Given the description of an element on the screen output the (x, y) to click on. 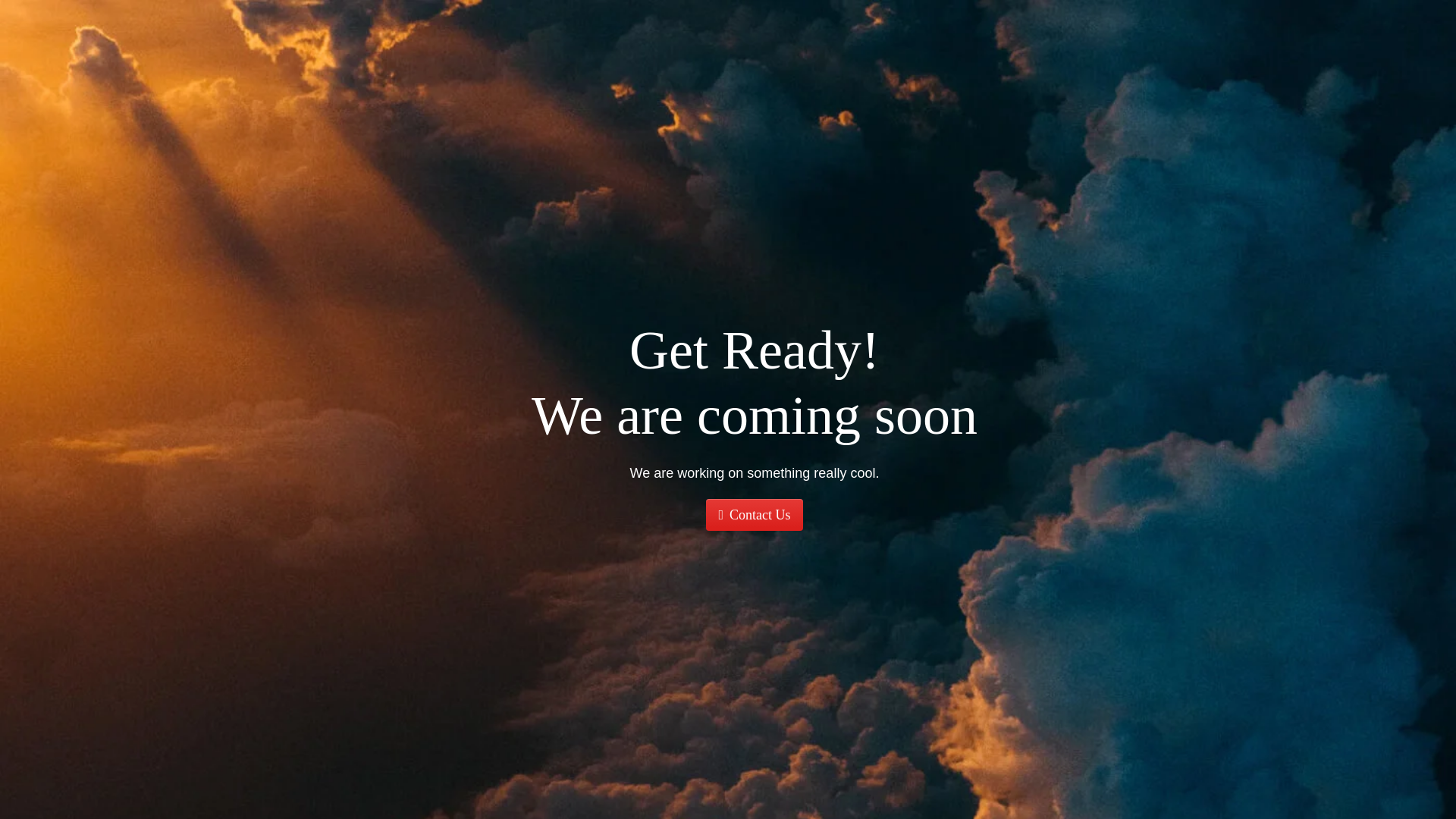
Contact Us (754, 514)
